Given the description of an element on the screen output the (x, y) to click on. 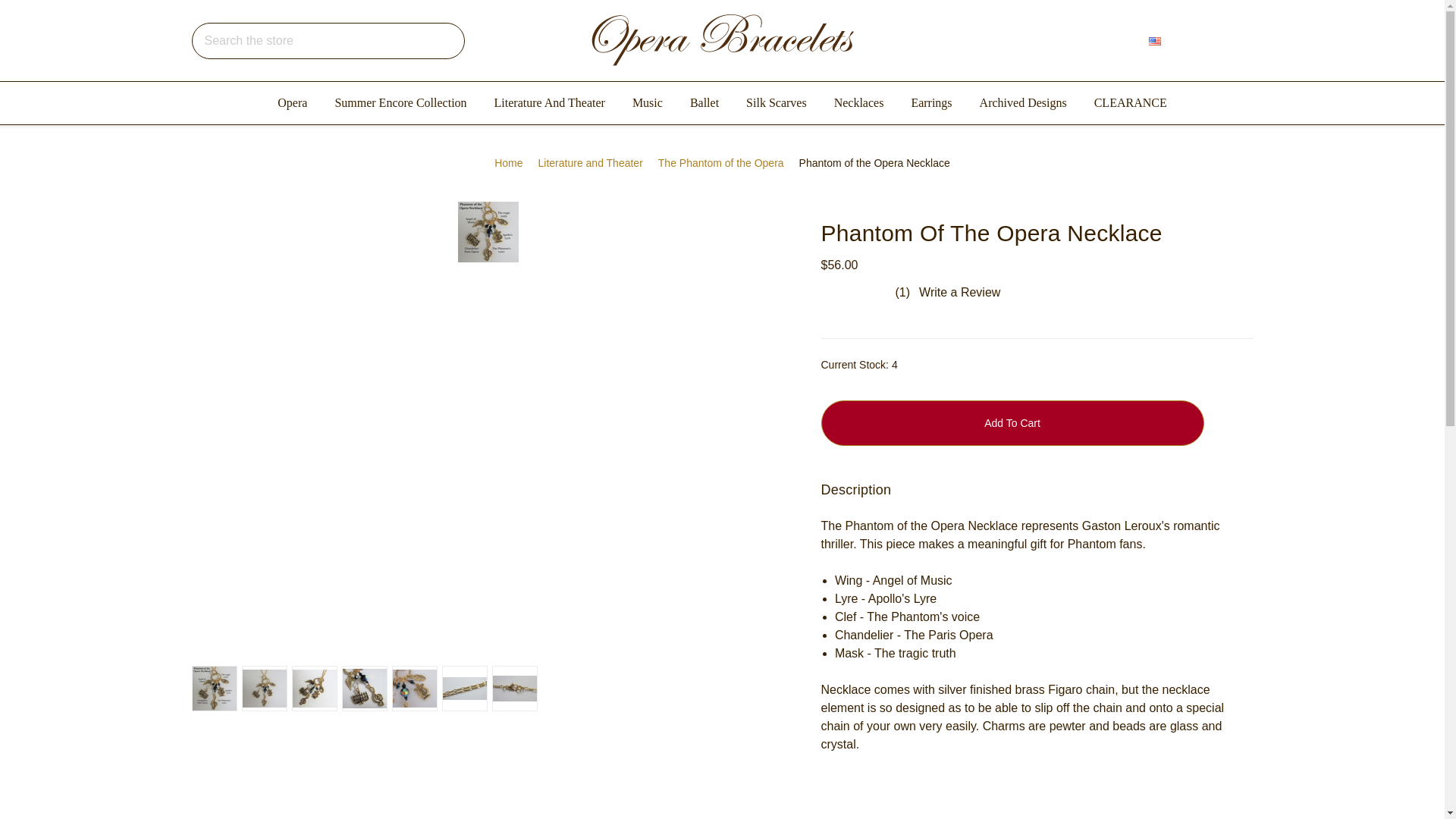
Phantom of the Opera Necklace (314, 688)
Earrings (930, 102)
Add to Cart (1012, 422)
Archived Designs (1023, 102)
Phantom of the Opera Necklace (264, 688)
Literature and Theater (590, 163)
Opera (291, 102)
Phantom of the Opera Necklace detail (364, 688)
Necklaces (859, 102)
Ballet (704, 102)
Silk Scarves (776, 102)
Phantom of the Opera Necklace detail (414, 688)
Write a Review (959, 291)
